Given the description of an element on the screen output the (x, y) to click on. 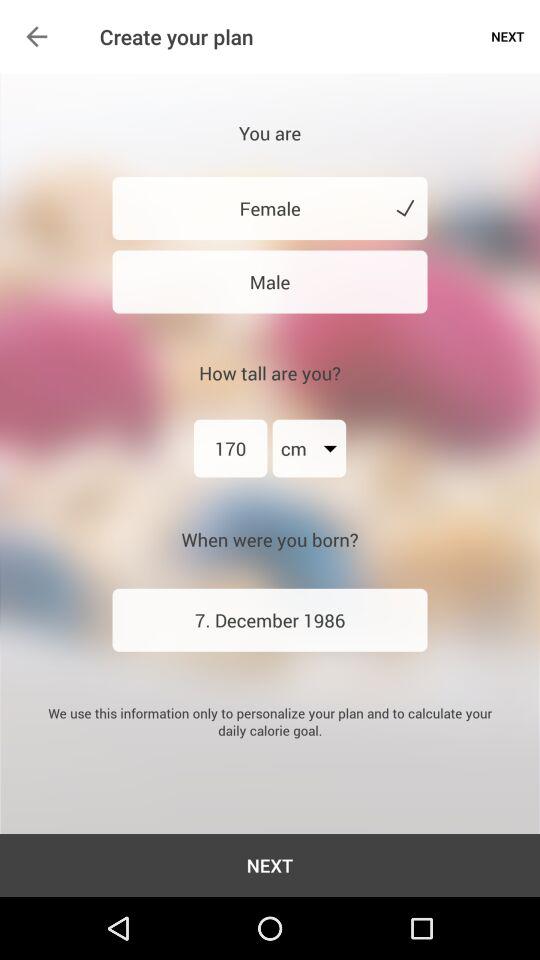
click the item below how tall are item (309, 448)
